Given the description of an element on the screen output the (x, y) to click on. 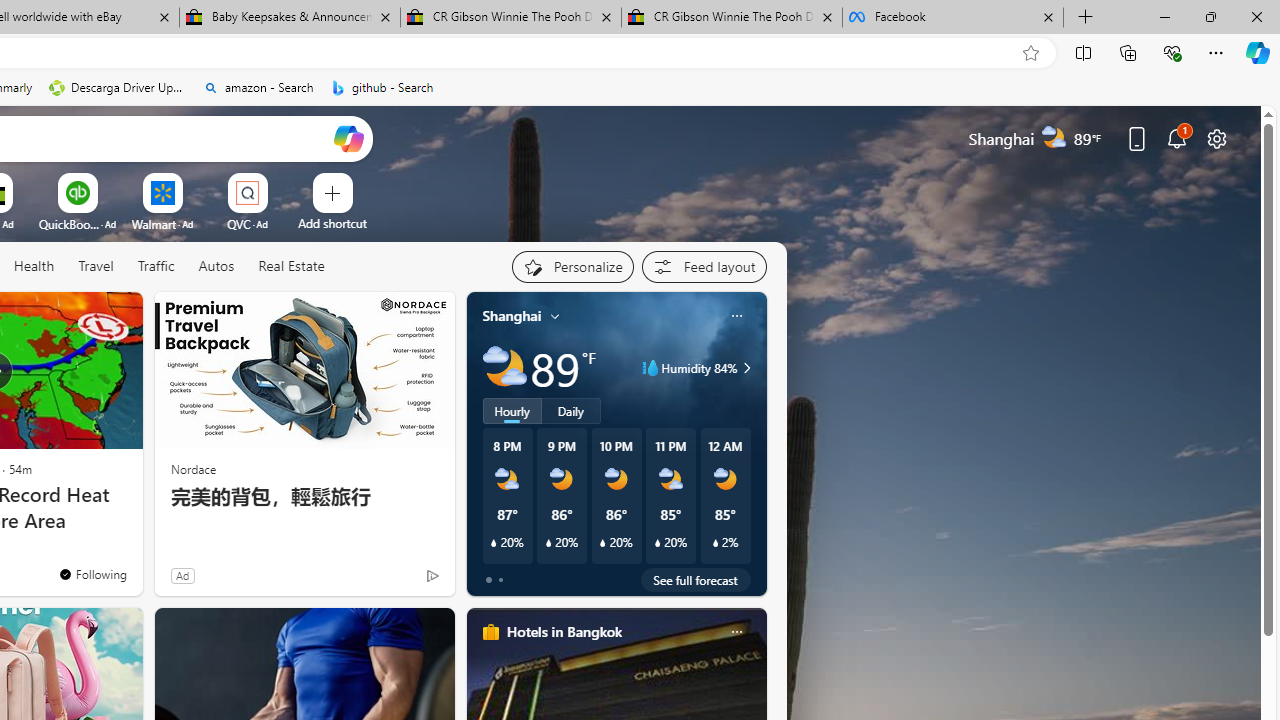
Partly cloudy (504, 368)
Descarga Driver Updater (118, 88)
Feed settings (703, 266)
Hourly (511, 411)
Shanghai (511, 315)
